Given the description of an element on the screen output the (x, y) to click on. 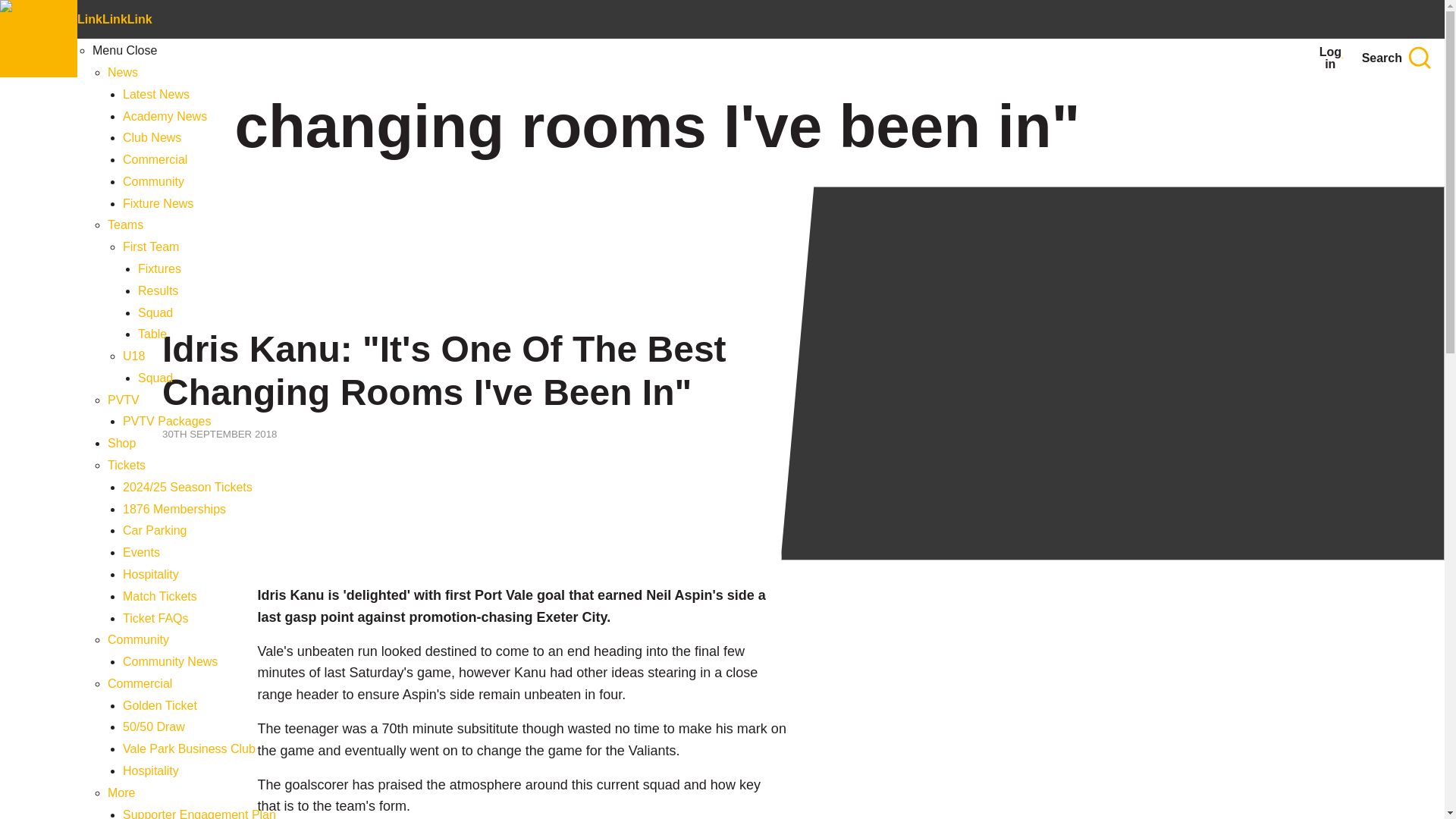
Academy News (164, 115)
Vale Park Business Club (189, 748)
News (122, 72)
Events (141, 552)
Club News (151, 137)
More (121, 792)
Shop (121, 442)
Tickets (126, 464)
Menu Close (125, 50)
PVTV (123, 399)
Hospitality (150, 574)
U18 (133, 355)
Link (114, 19)
Fixtures (159, 268)
Hospitality (150, 770)
